Given the description of an element on the screen output the (x, y) to click on. 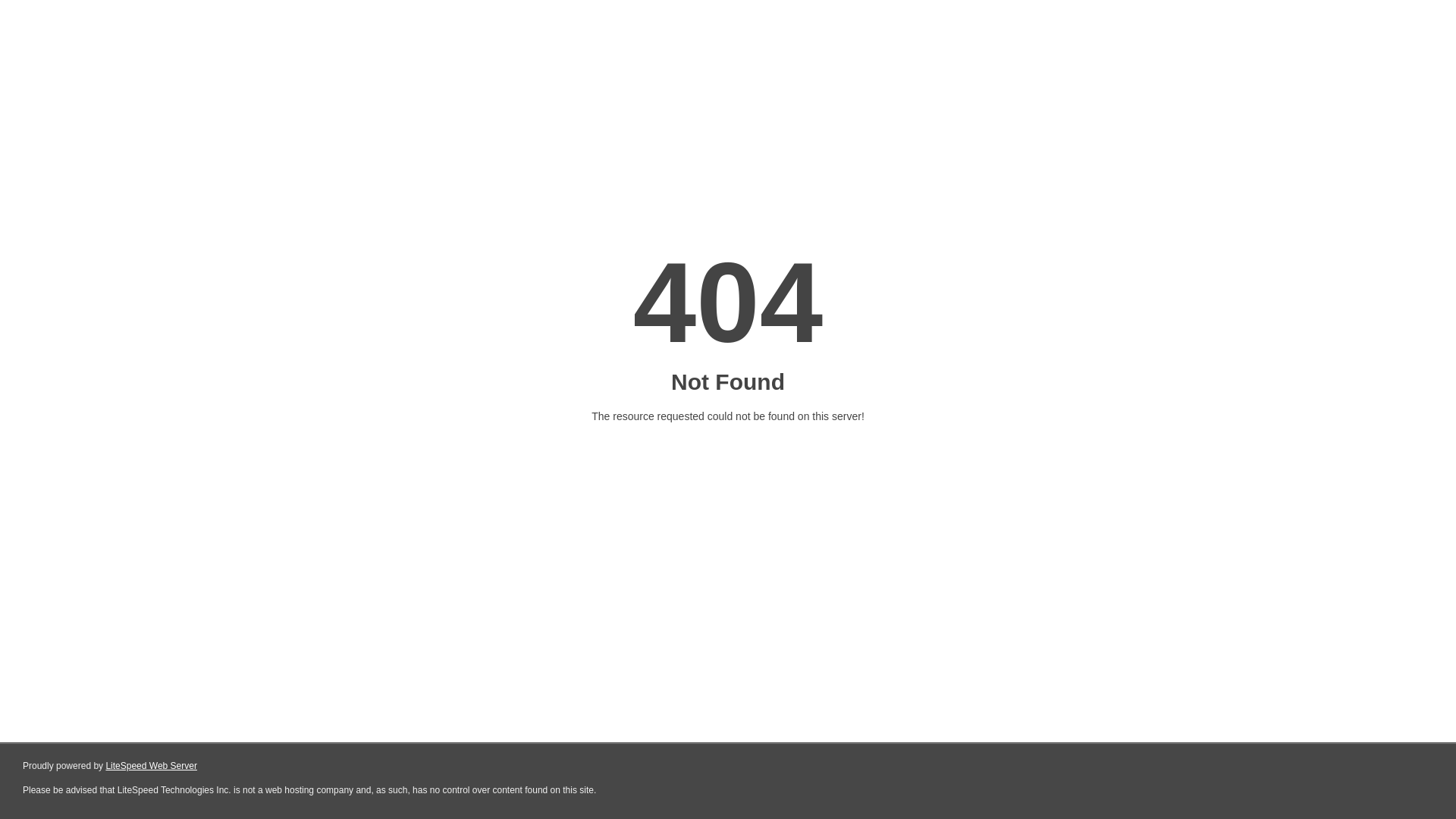
LiteSpeed Web Server Element type: text (151, 765)
